Given the description of an element on the screen output the (x, y) to click on. 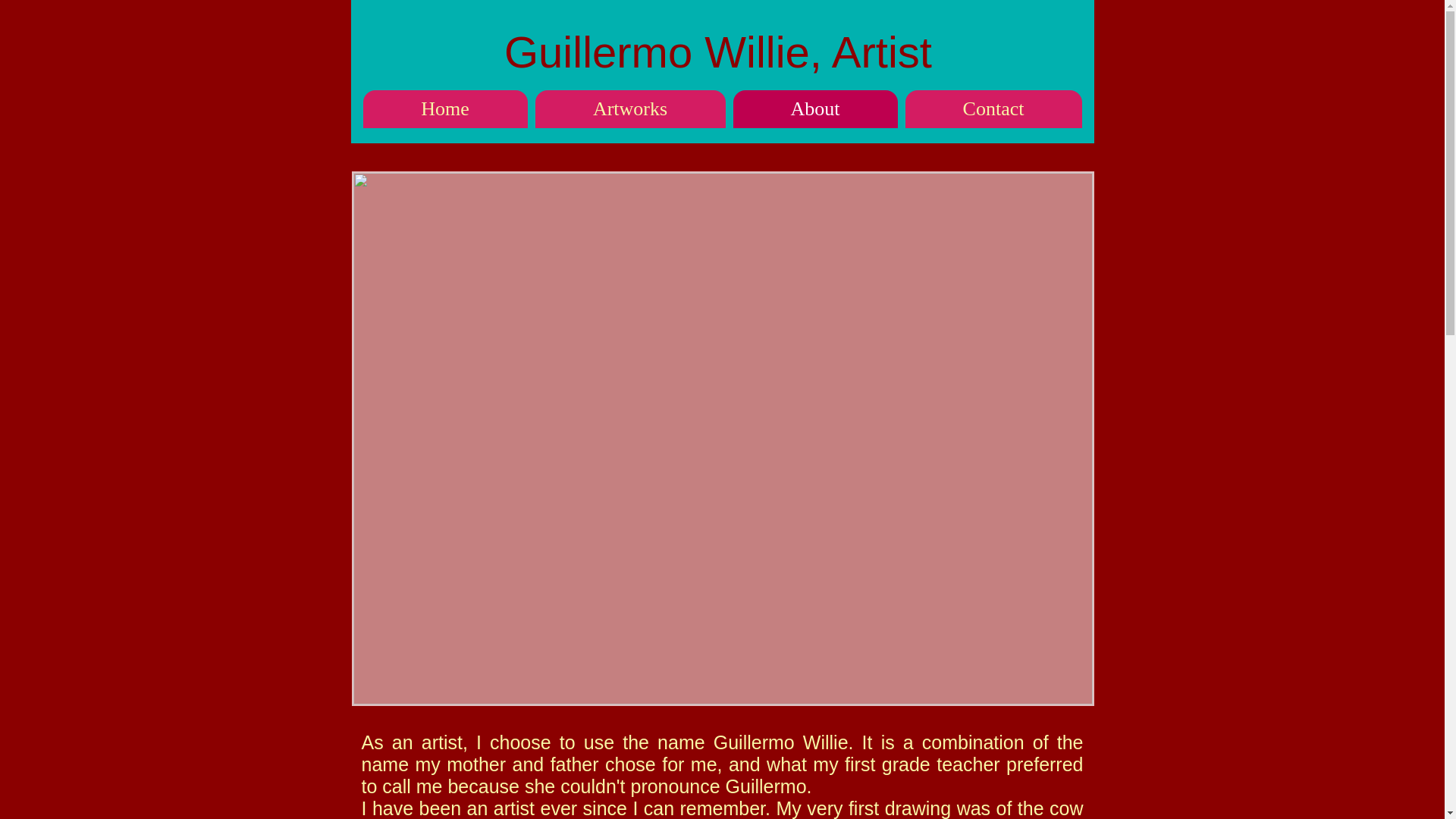
About (814, 108)
Home (444, 108)
Contact (993, 108)
Artworks (630, 108)
